Given the description of an element on the screen output the (x, y) to click on. 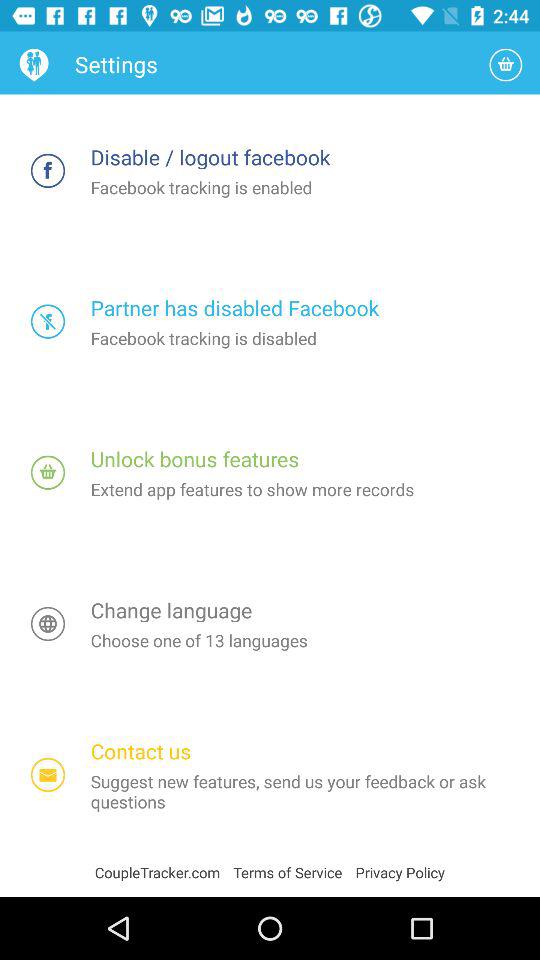
open the item below suggest new features icon (294, 872)
